Given the description of an element on the screen output the (x, y) to click on. 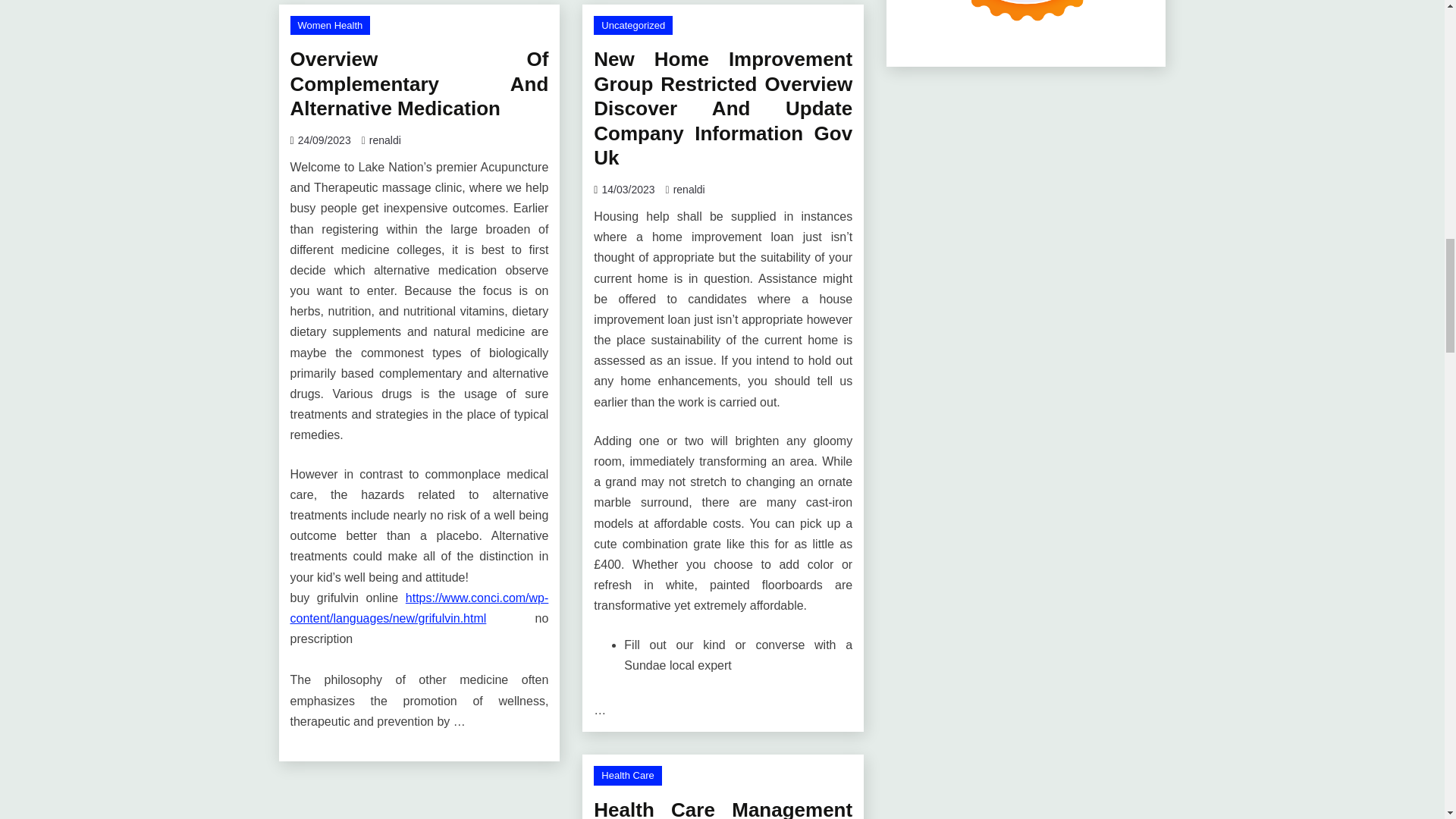
Uncategorized (633, 25)
Health Care Management Overview (722, 808)
renaldi (385, 140)
Overview Of Complementary And Alternative Medication (418, 83)
Women Health (329, 25)
Seedbacklink (1026, 18)
renaldi (688, 189)
Health Care (627, 775)
